Given the description of an element on the screen output the (x, y) to click on. 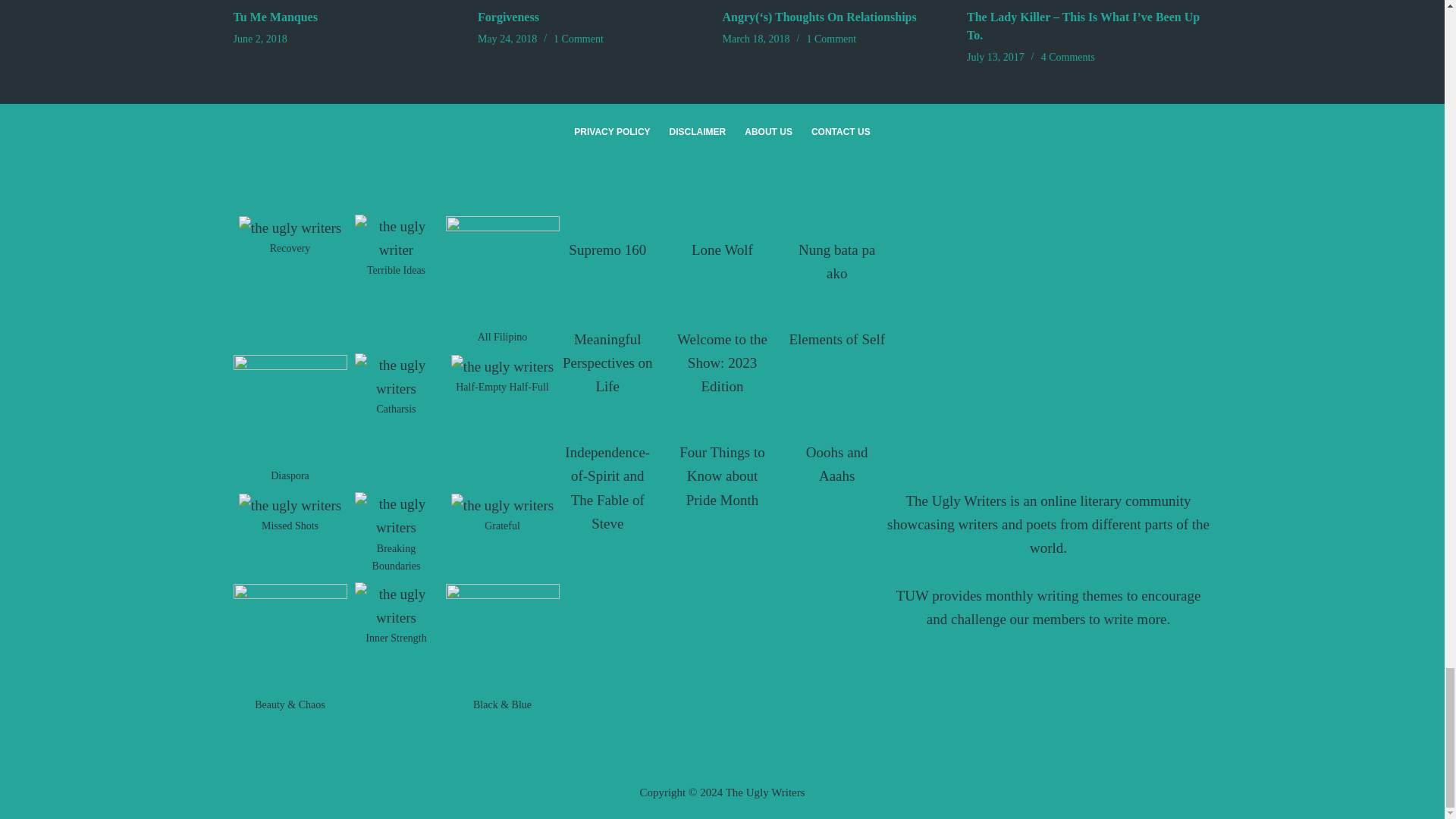
Of Love and War (1048, 306)
